Given the description of an element on the screen output the (x, y) to click on. 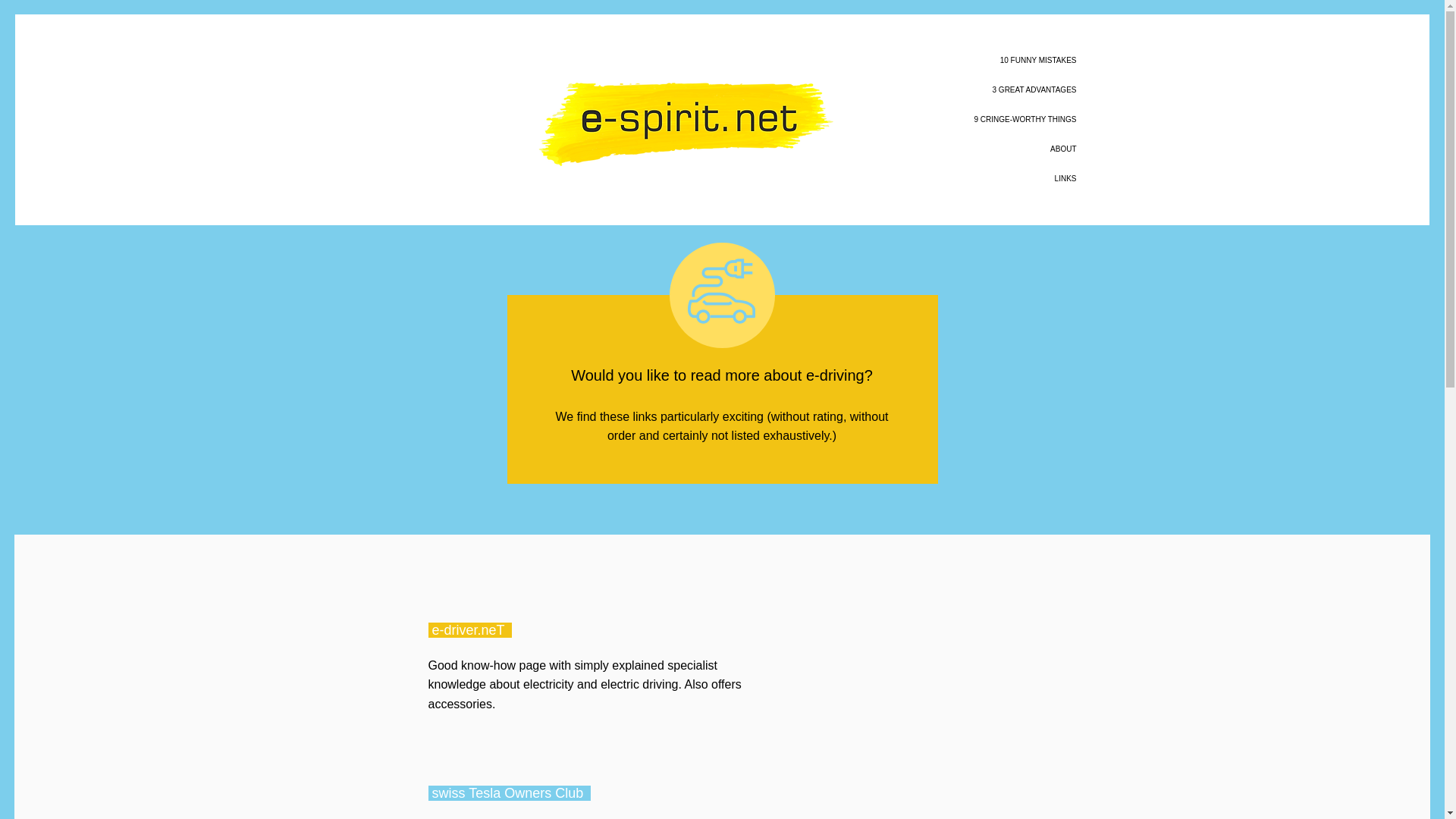
3 GREAT ADVANTAGES (916, 89)
10 FUNNY MISTAKES (916, 60)
9 CRINGE-WORTHY THINGS (916, 119)
 e-driver.neT   (470, 630)
ABOUT (916, 148)
 swiss Tesla Owners Club   (509, 792)
LINKS (916, 178)
